Given the description of an element on the screen output the (x, y) to click on. 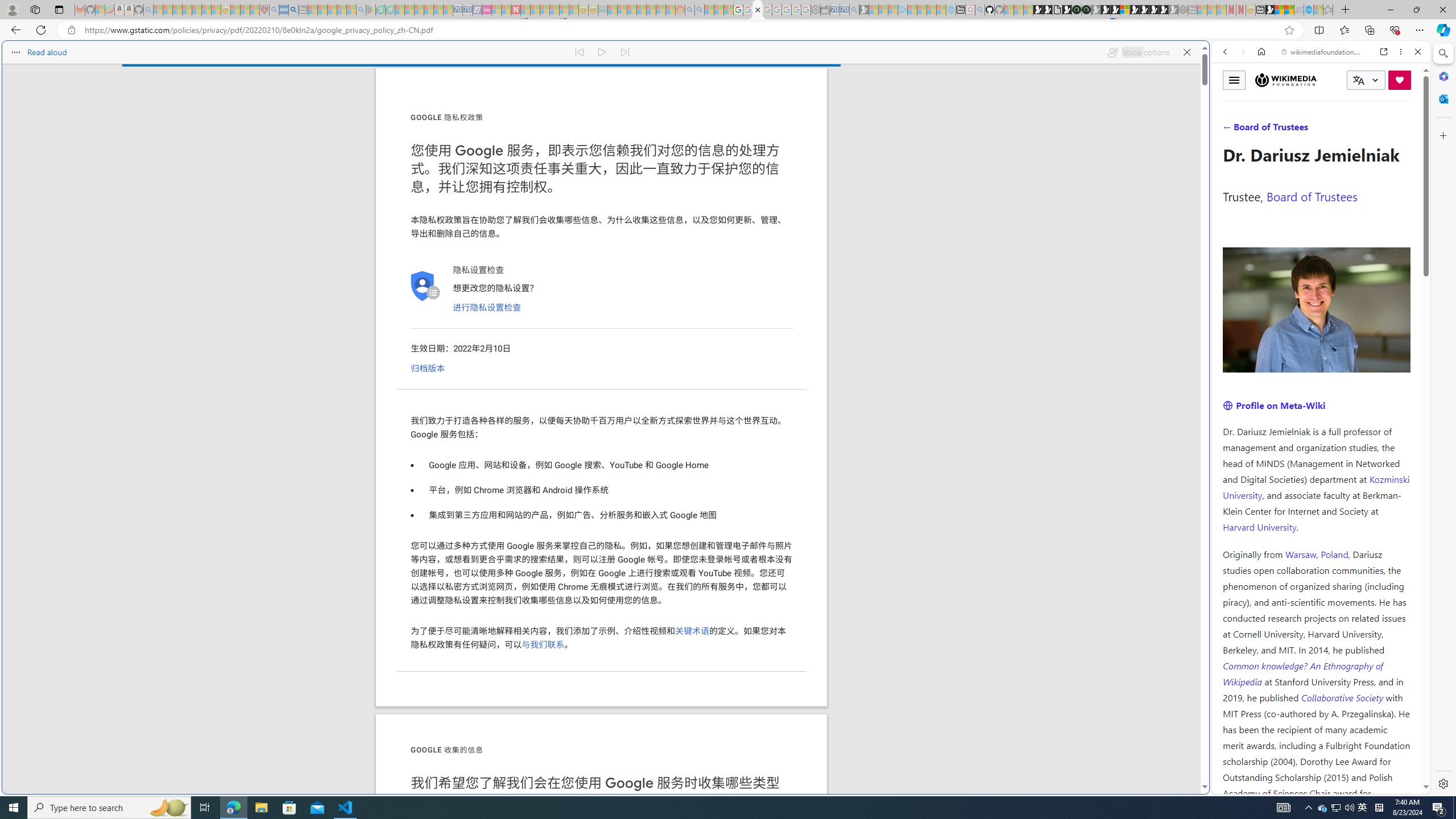
Play Cave FRVR in your browser | Games from Microsoft Start (922, 242)
Kozminski University (1316, 486)
Voice options (1138, 52)
Kinda Frugal - MSN - Sleeping (651, 9)
Warsaw (1300, 554)
